Given the description of an element on the screen output the (x, y) to click on. 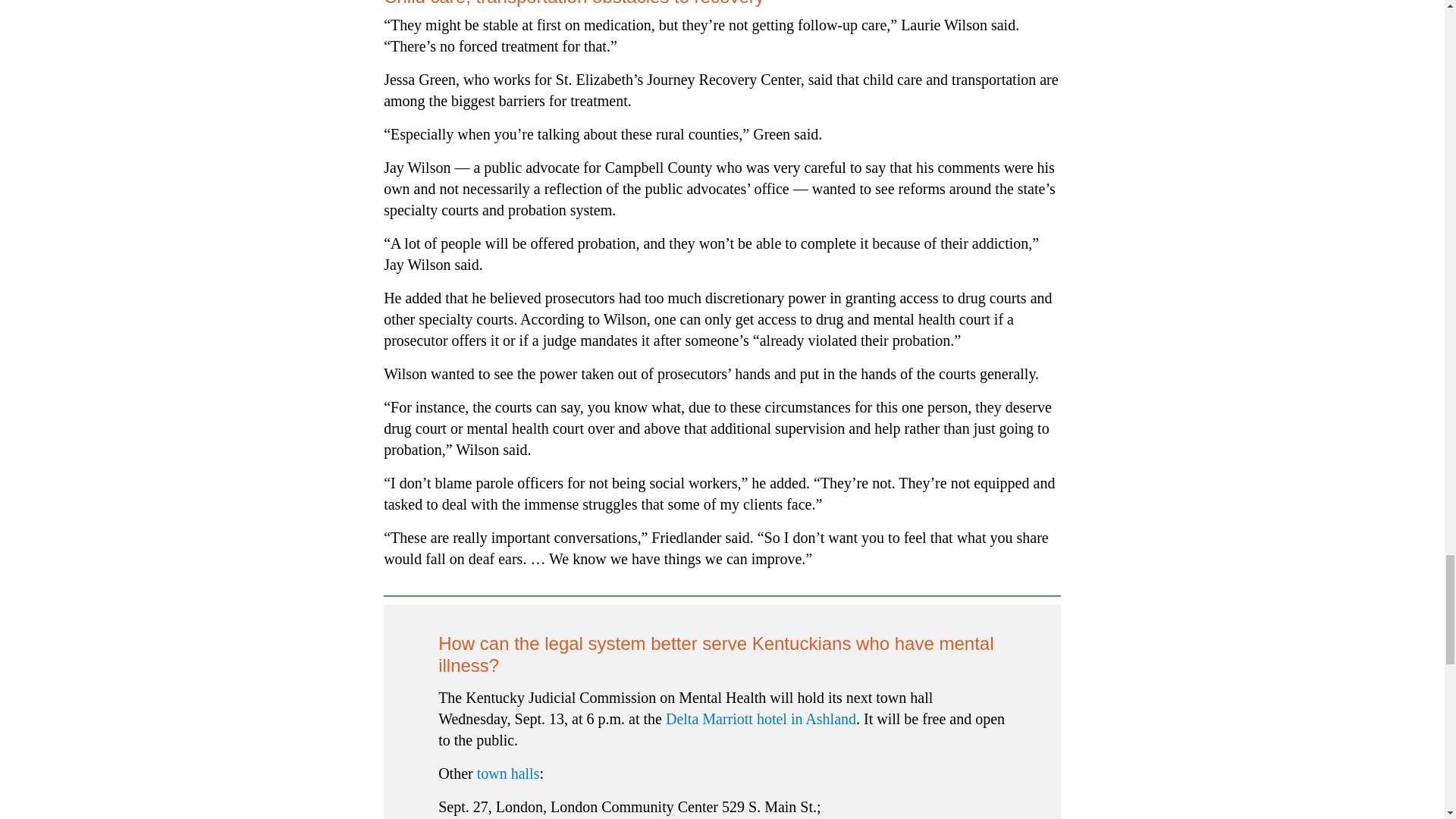
Page 2 (722, 790)
Delta Marriott hotel in Ashland (760, 718)
town halls (508, 773)
